Given the description of an element on the screen output the (x, y) to click on. 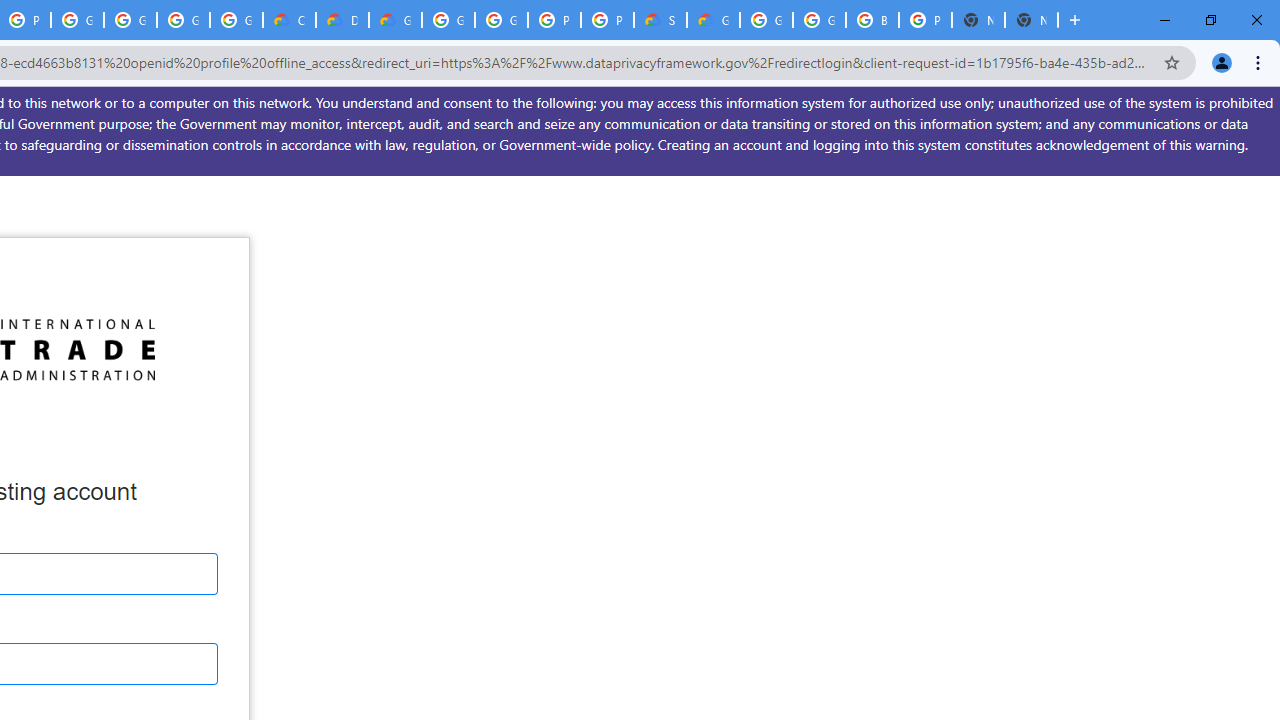
Google Cloud Service Health (713, 20)
Support Hub | Google Cloud (660, 20)
Google Cloud Platform (448, 20)
Google Cloud Platform (819, 20)
New Tab (1031, 20)
Google Workspace - Specific Terms (183, 20)
